Given the description of an element on the screen output the (x, y) to click on. 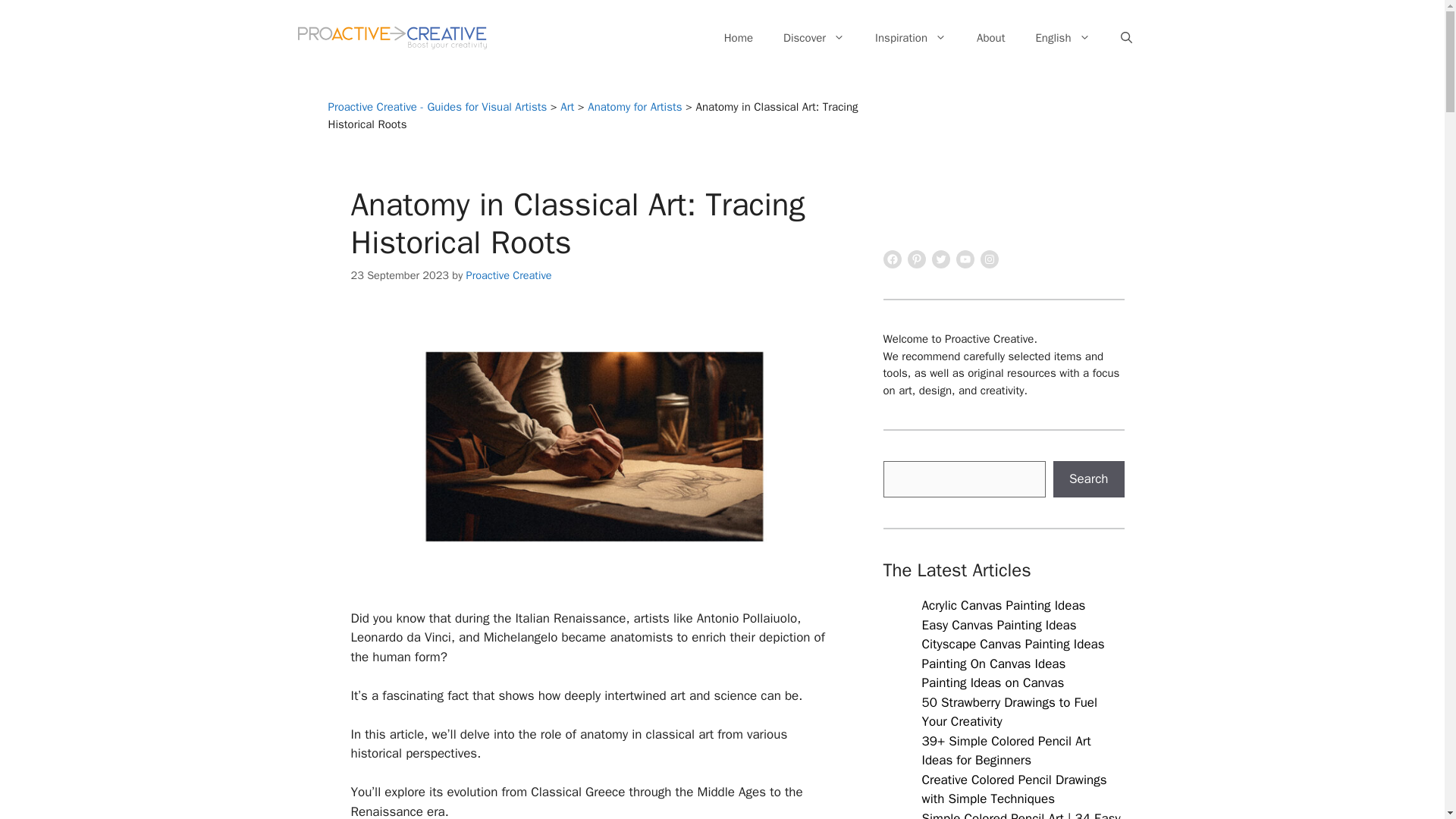
Go to the Art category archives. (566, 106)
Art (566, 106)
Inspiration (910, 37)
Home (738, 37)
Proactive Creative (508, 274)
English (1062, 37)
Go to Proactive Creative - Guides for Visual Artists. (437, 106)
English (1062, 37)
Anatomy for Artists (634, 106)
View all posts by Proactive Creative (508, 274)
